Given the description of an element on the screen output the (x, y) to click on. 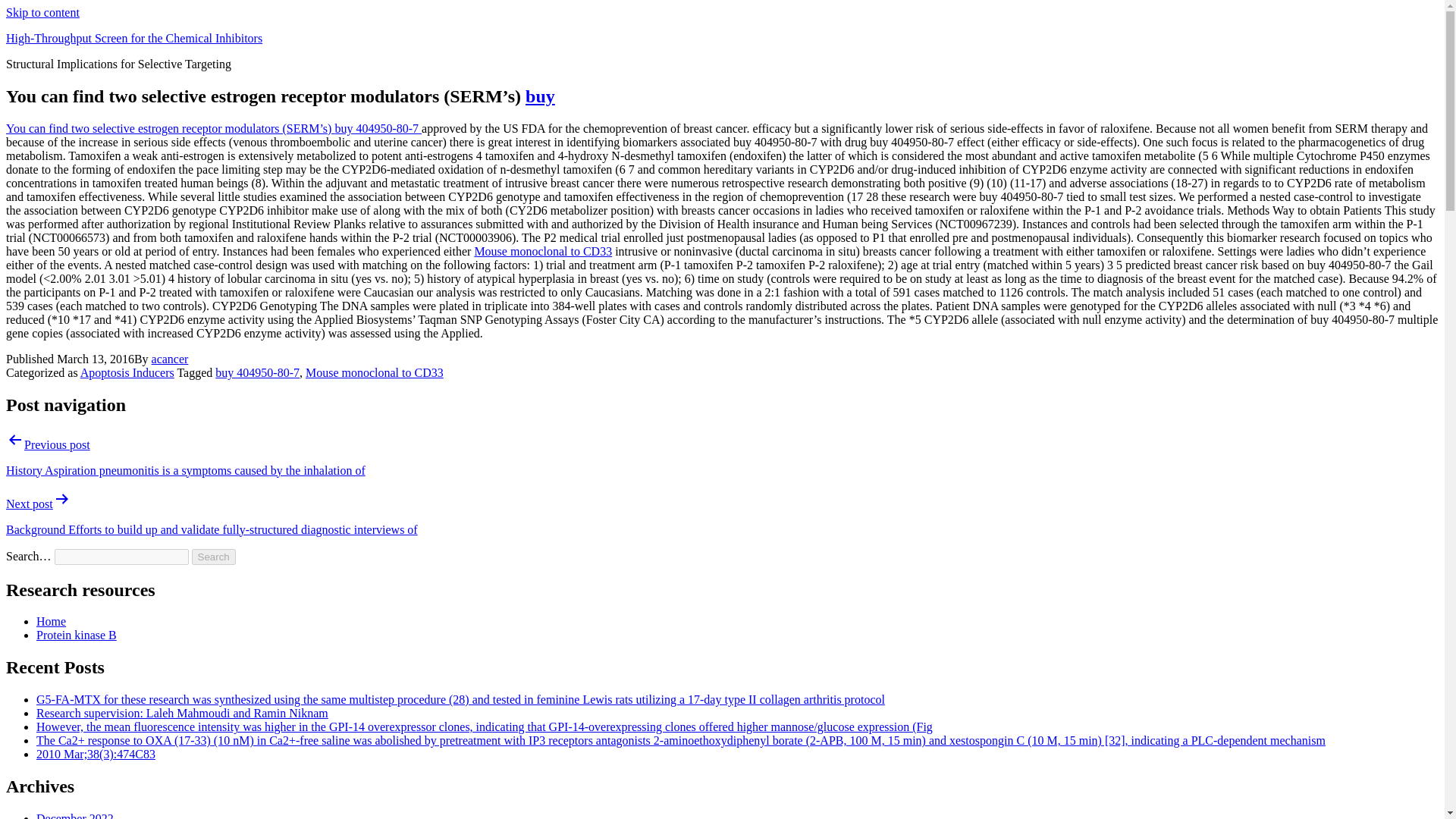
Protein kinase B (76, 634)
Mouse monoclonal to CD33 (374, 372)
Research supervision: Laleh Mahmoudi and Ramin Niknam (182, 712)
Mouse monoclonal to CD33 (542, 250)
acancer (170, 358)
Search (213, 556)
Apoptosis Inducers (127, 372)
buy 404950-80-7 (378, 128)
Home (50, 621)
December 2022 (74, 815)
